Given the description of an element on the screen output the (x, y) to click on. 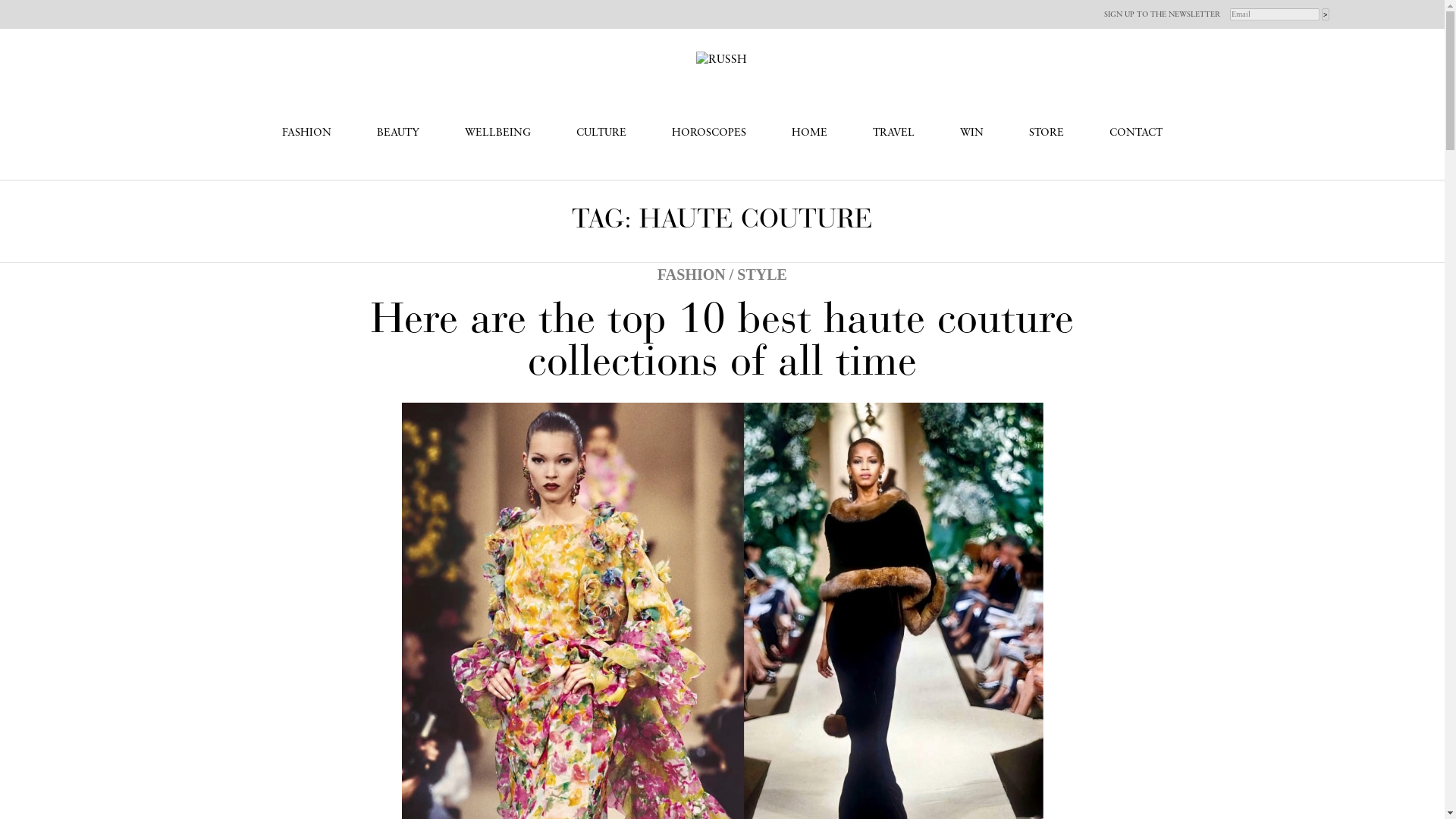
CULTURE (601, 132)
BEAUTY (398, 132)
WELLBEING (497, 132)
FASHION (306, 132)
